Given the description of an element on the screen output the (x, y) to click on. 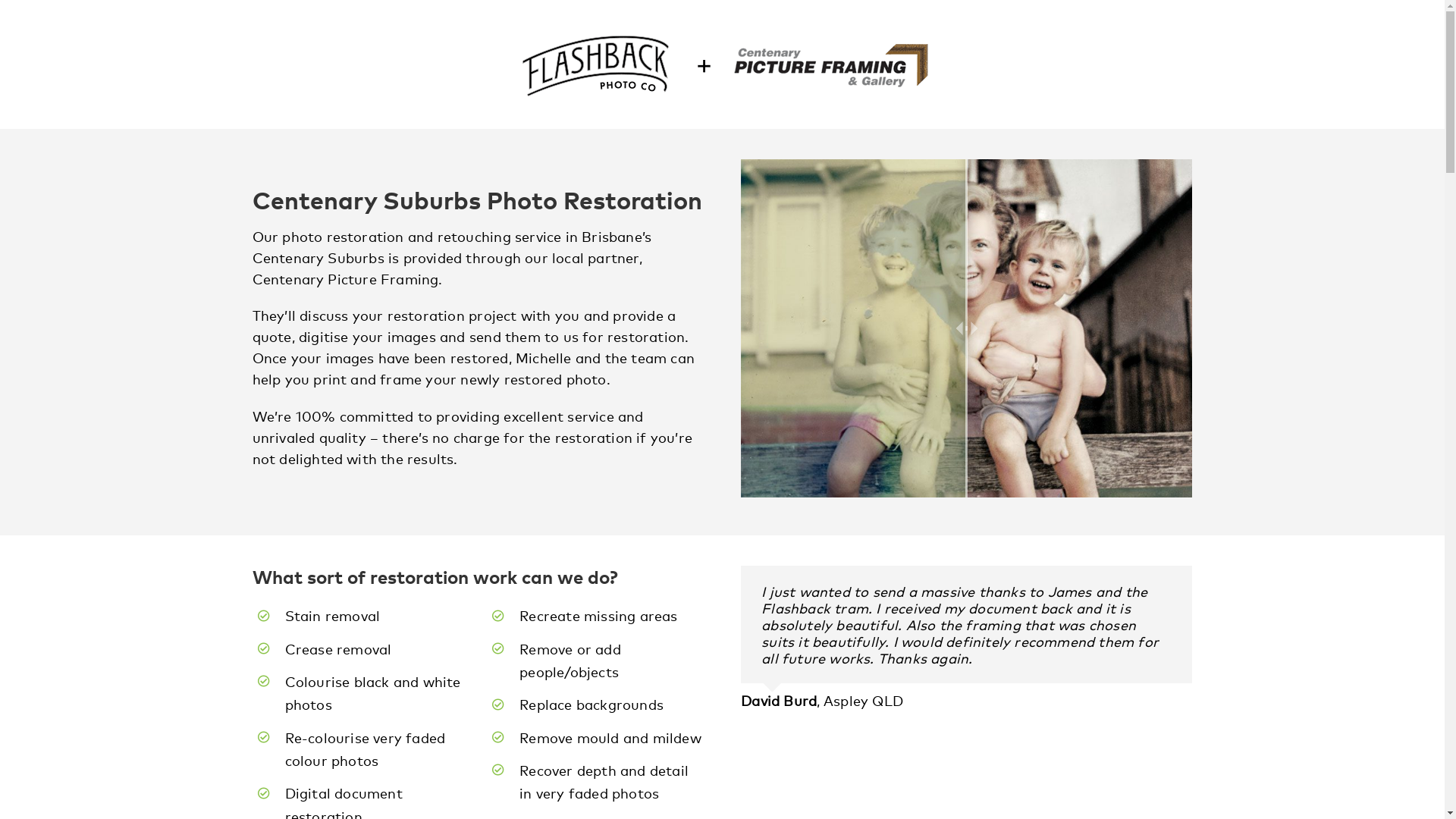
Flashback-Centenary-Logos Element type: hover (721, 64)
